Given the description of an element on the screen output the (x, y) to click on. 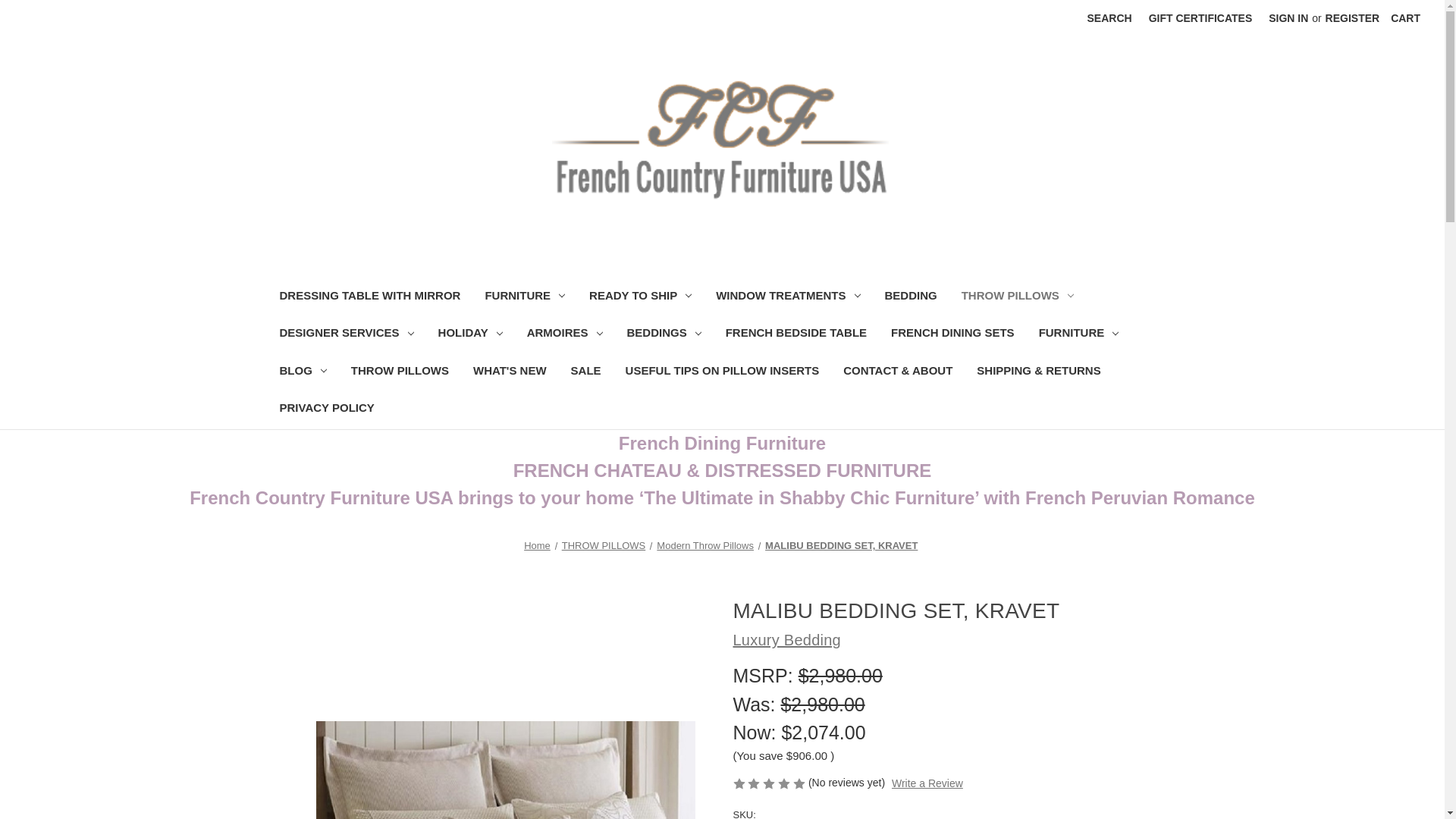
BEDDING (910, 297)
DRESSING TABLE WITH MIRROR (368, 297)
WINDOW TREATMENTS (787, 297)
7 Piece Malibu Bedding (504, 699)
CART (1404, 18)
READY TO SHIP (639, 297)
SIGN IN (1288, 18)
THROW PILLOWS (1017, 297)
FURNITURE (523, 297)
REGISTER (1353, 18)
SEARCH (1109, 18)
GIFT CERTIFICATES (1200, 18)
French Country Furniture USA (722, 139)
